Given the description of an element on the screen output the (x, y) to click on. 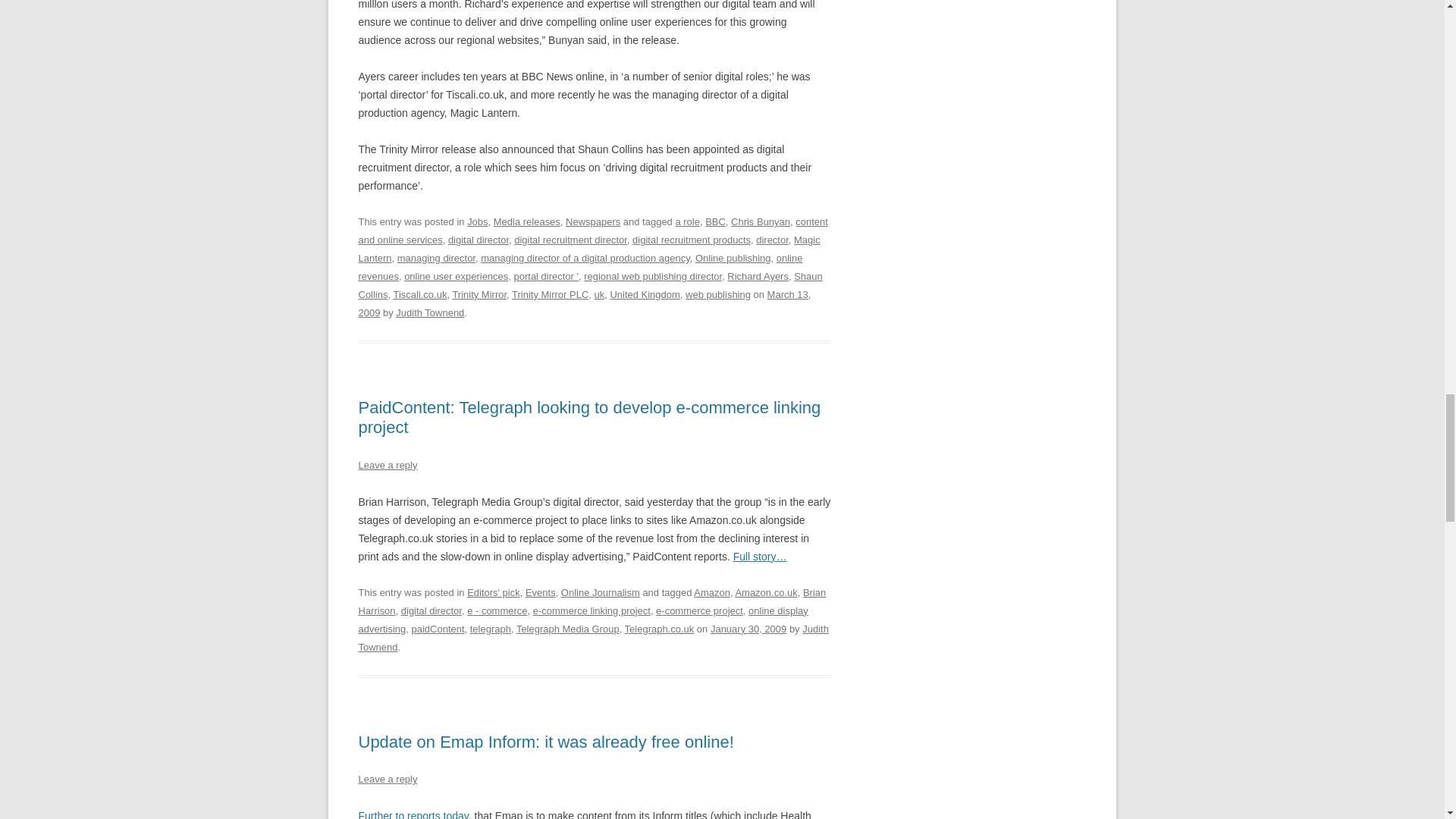
View all posts by Judith Townend (430, 312)
9:17 am (748, 628)
9:44 am (584, 303)
View all posts by Judith Townend (593, 637)
